Given the description of an element on the screen output the (x, y) to click on. 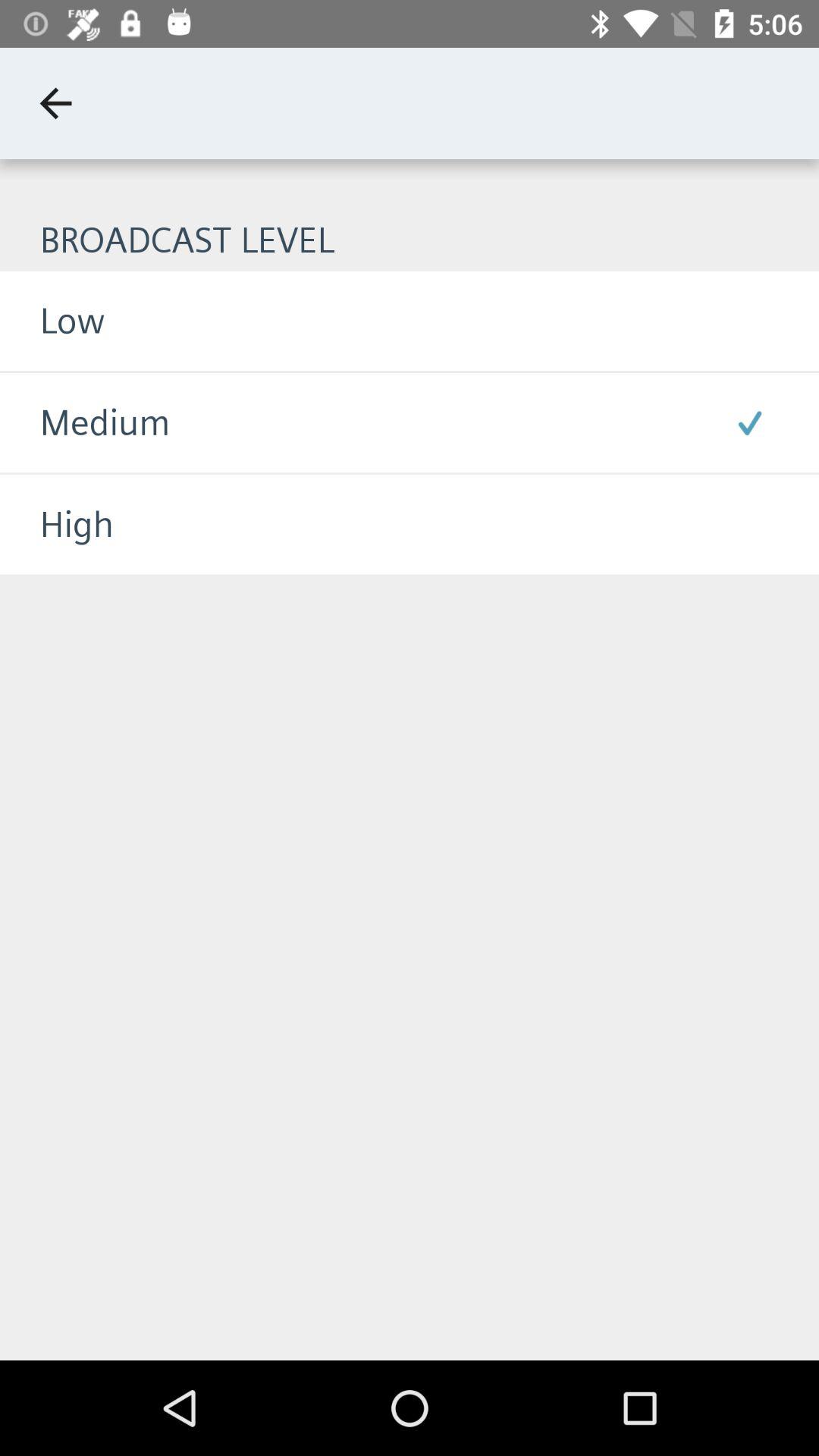
flip to low item (52, 320)
